Given the description of an element on the screen output the (x, y) to click on. 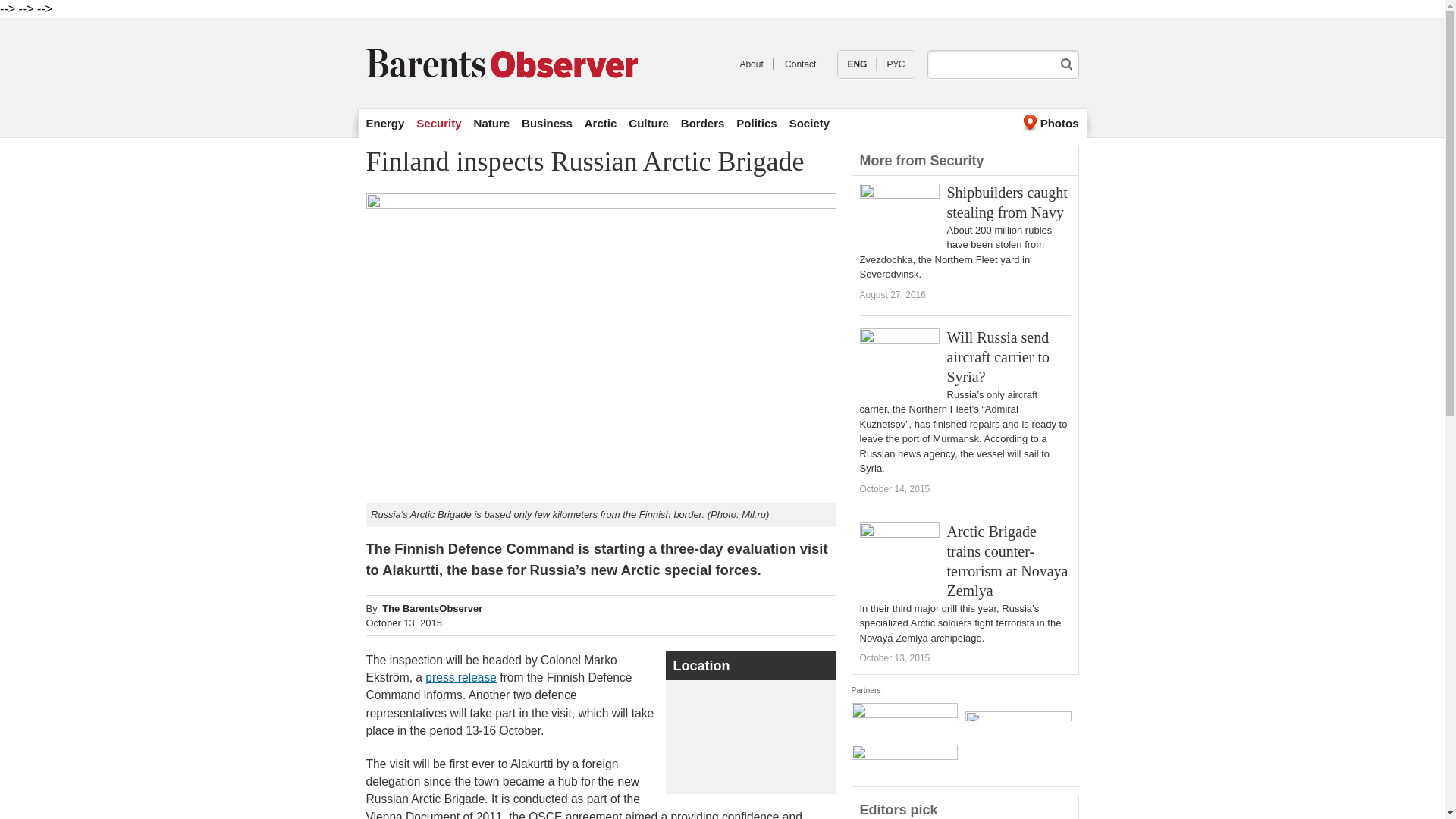
Society (809, 123)
Skip to main content (685, 19)
Politics (756, 123)
About (751, 63)
Business (546, 123)
Culture (648, 123)
Search (1066, 64)
Energy (384, 123)
News from the Barents Region (751, 63)
Arctic (601, 123)
press release (460, 676)
ENG (856, 63)
Finland inspects Russian Arctic Brigade (856, 63)
Search (1066, 64)
Photos (1047, 123)
